Given the description of an element on the screen output the (x, y) to click on. 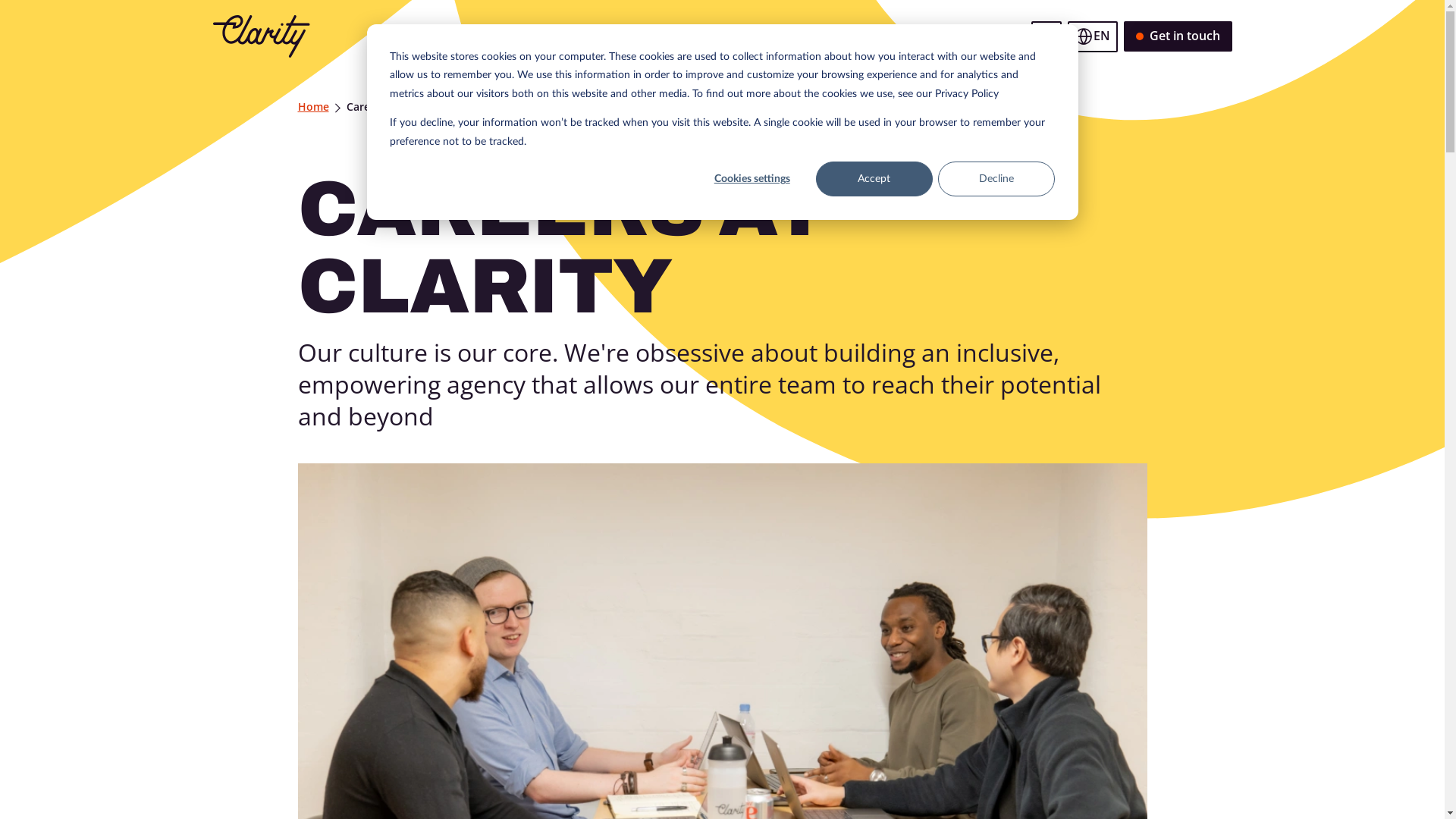
EN Element type: text (1092, 36)
Clarity Global Element type: text (260, 36)
Our Work Element type: text (570, 36)
Cookies settings Element type: text (751, 178)
Select to toggle search modal Element type: text (1046, 36)
Services Element type: text (832, 36)
Home Element type: text (312, 106)
Get in touch Element type: text (1177, 36)
About Us Element type: text (901, 36)
Who We Help Element type: text (751, 36)
Accept Element type: text (873, 178)
Skip To Main Content Element type: text (228, 36)
Decline Element type: text (996, 178)
Resources Element type: text (976, 36)
